Given the description of an element on the screen output the (x, y) to click on. 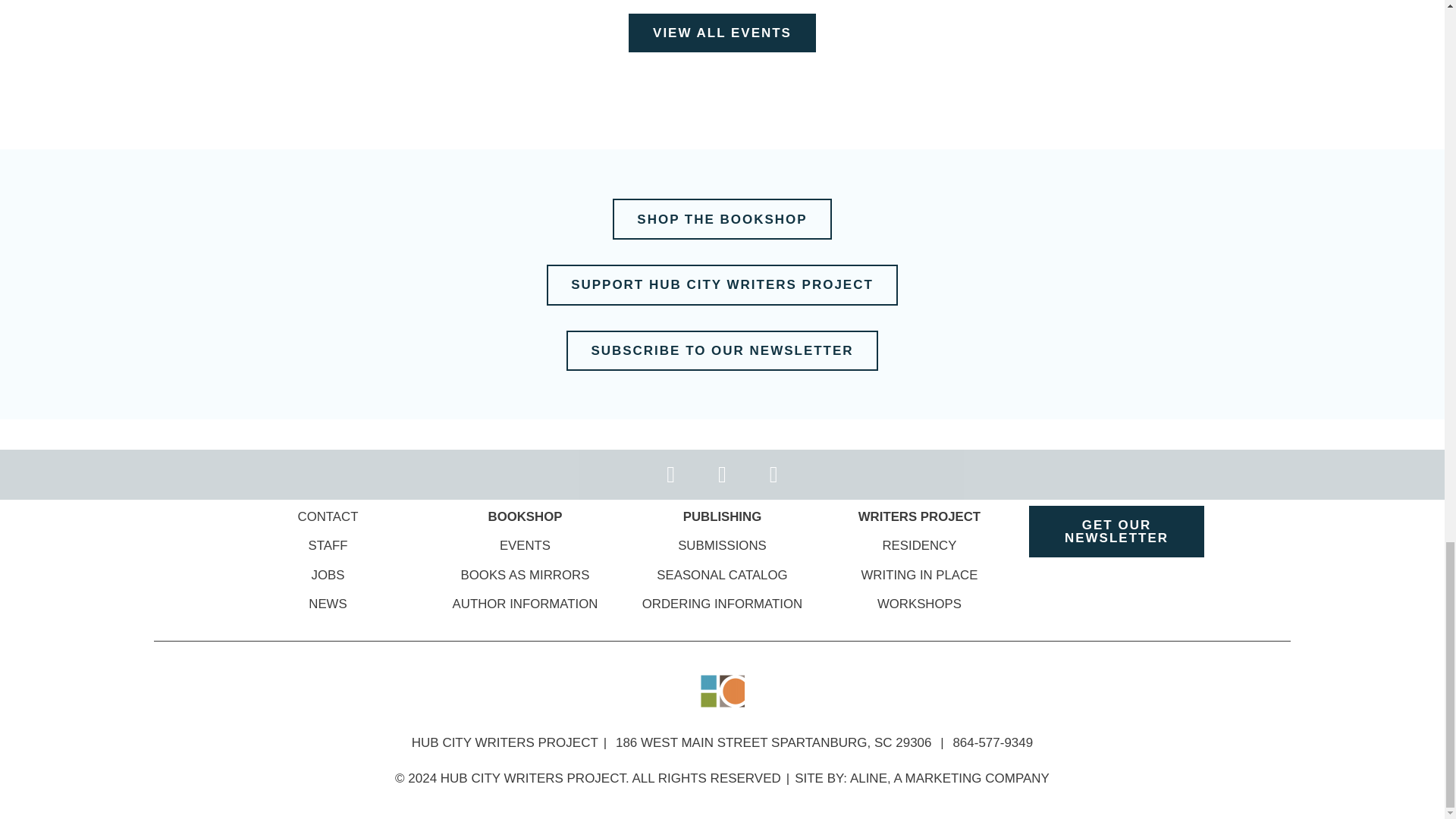
Nonprofit Marketing and Websites (949, 778)
